Given the description of an element on the screen output the (x, y) to click on. 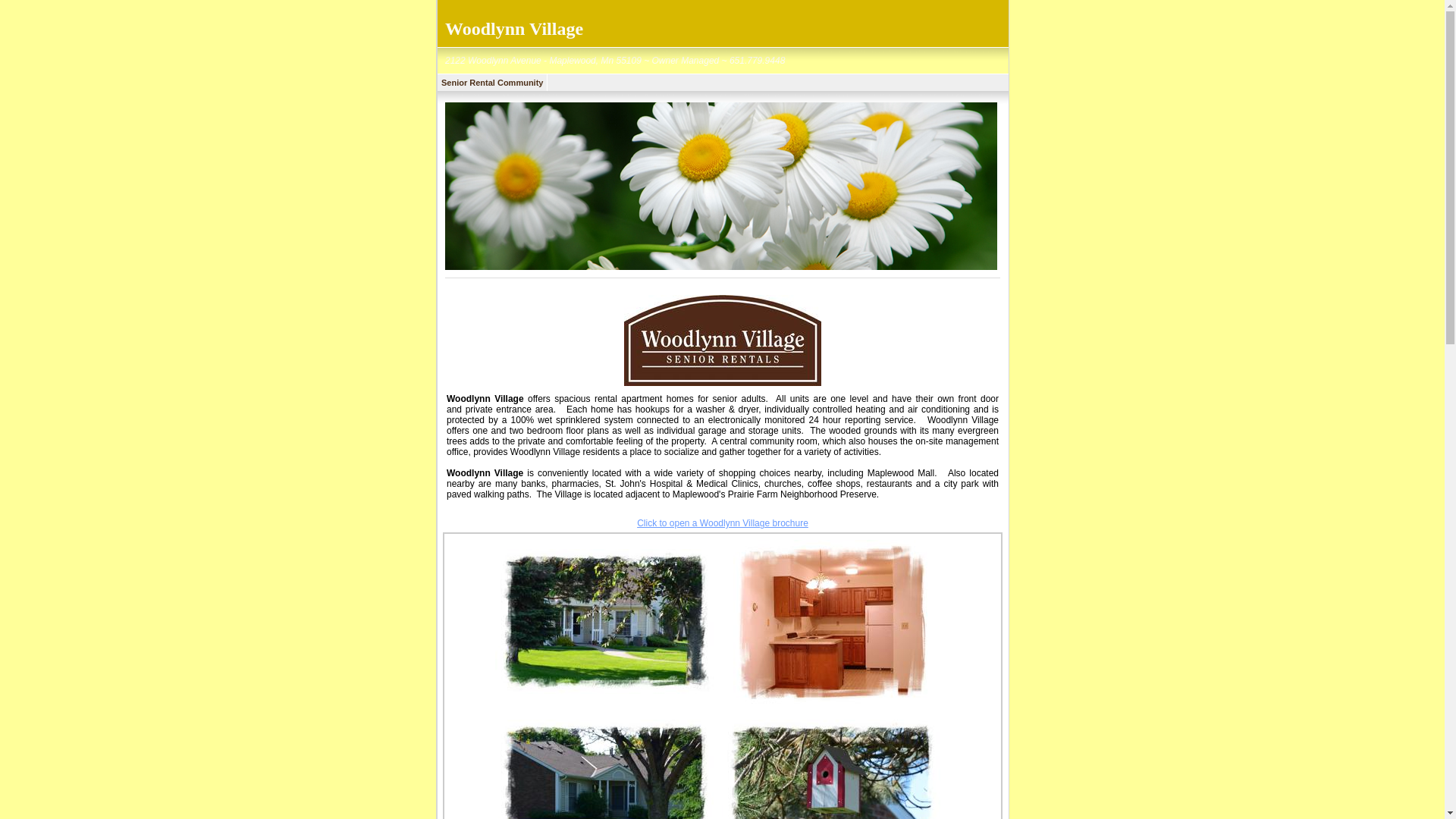
Click to open a Woodlynn Village brochure (722, 522)
Senior Rental Community (492, 82)
